Given the description of an element on the screen output the (x, y) to click on. 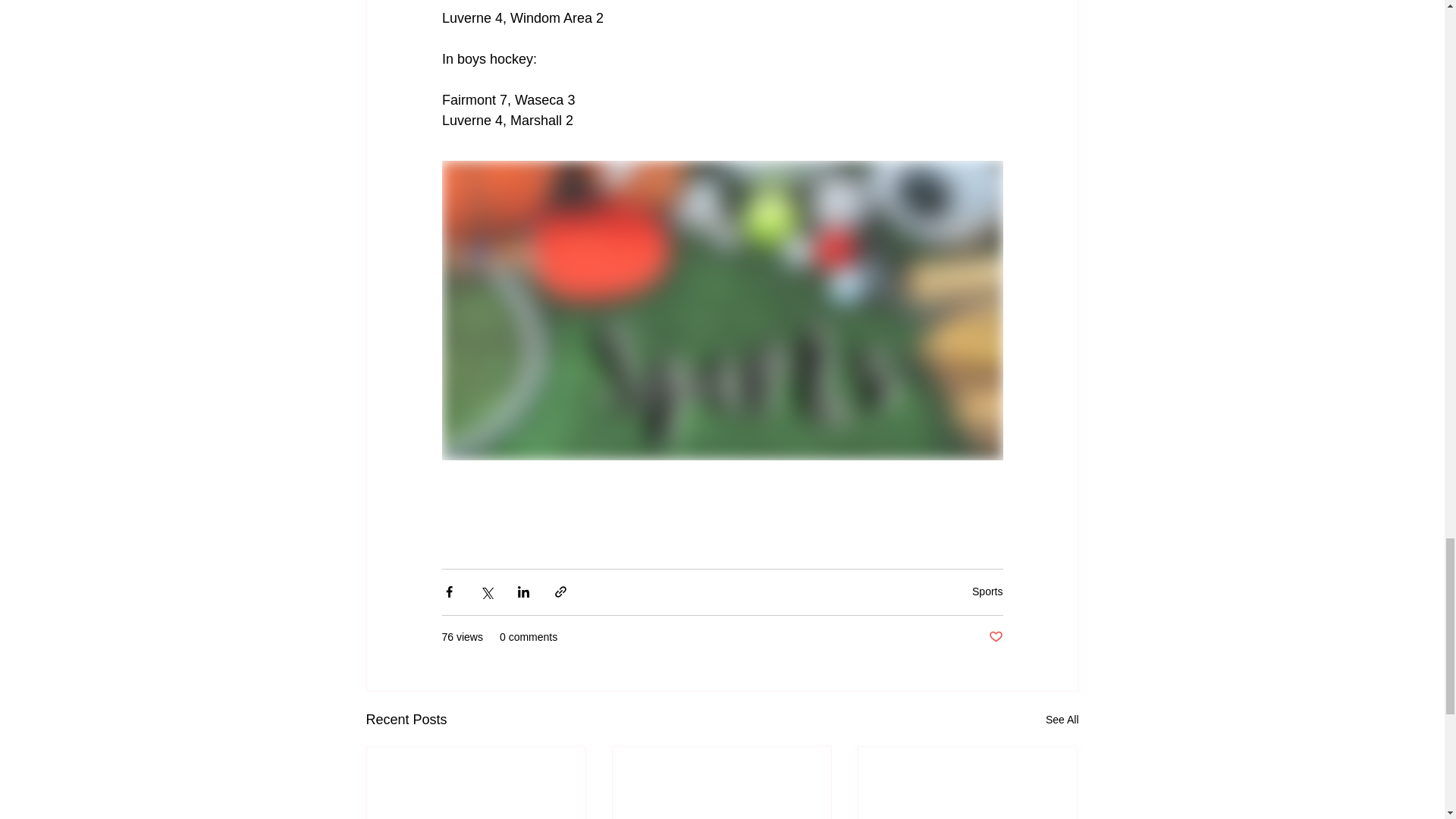
Post not marked as liked (995, 637)
See All (1061, 720)
Sports (987, 591)
